Given the description of an element on the screen output the (x, y) to click on. 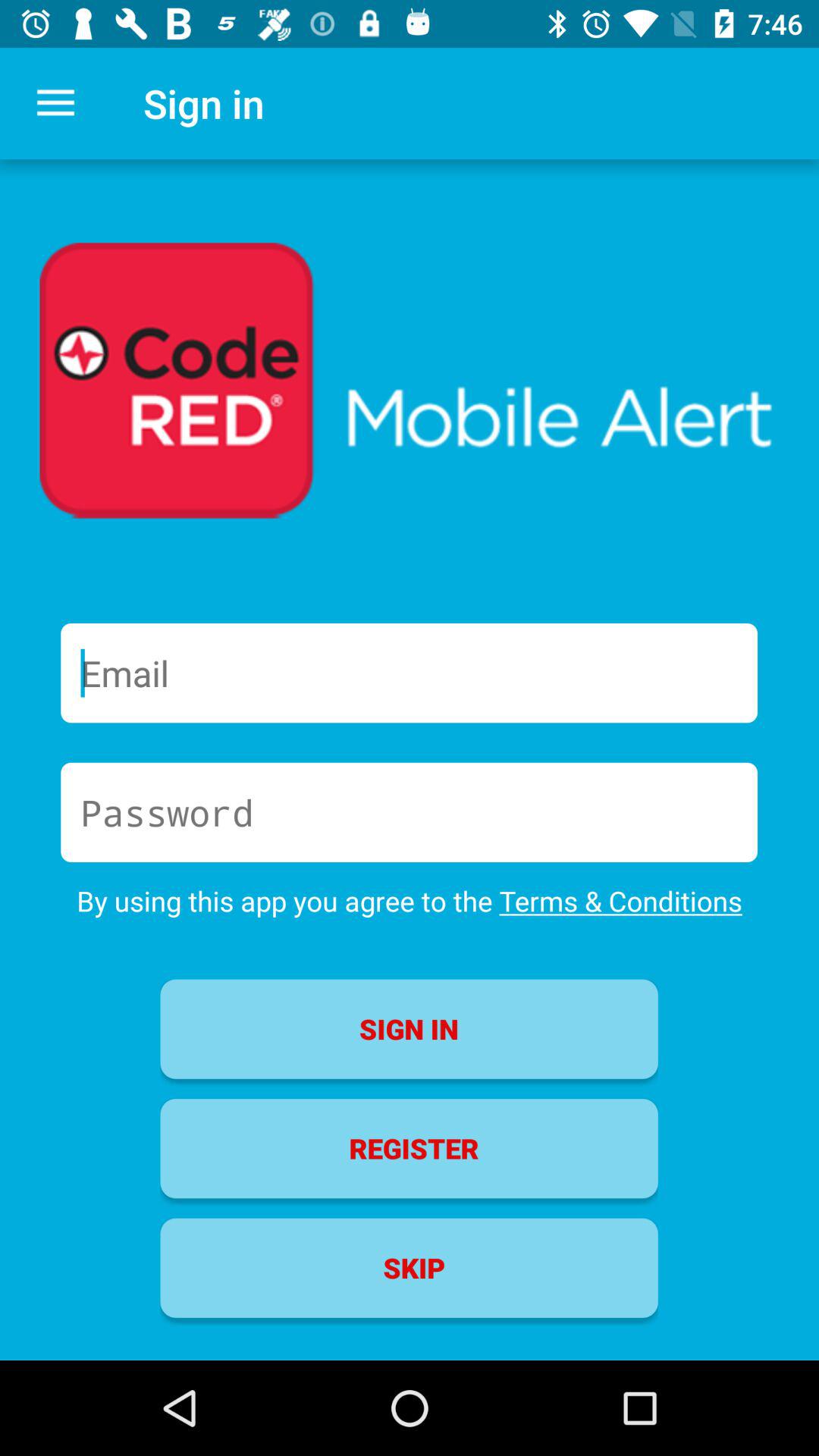
type in the password (408, 812)
